Given the description of an element on the screen output the (x, y) to click on. 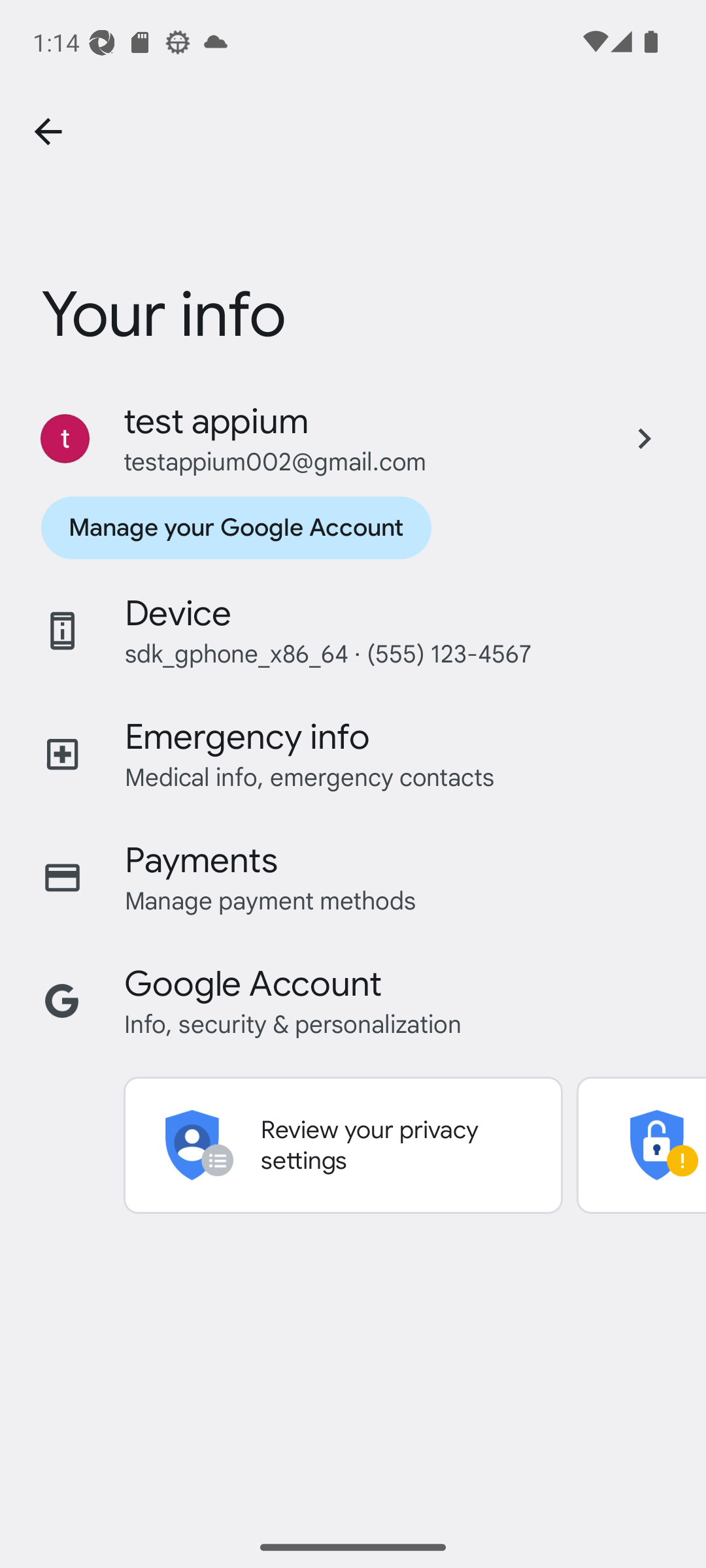
Navigate up (48, 131)
Manage your Google Account (235, 527)
Device sdk_gphone_x86_64 · (555) 123-4567 (353, 631)
Emergency info Medical info, emergency contacts (353, 754)
Payments Manage payment methods (353, 877)
Google Account Info, security & personalization (353, 1001)
Review your privacy settings (342, 1145)
